Given the description of an element on the screen output the (x, y) to click on. 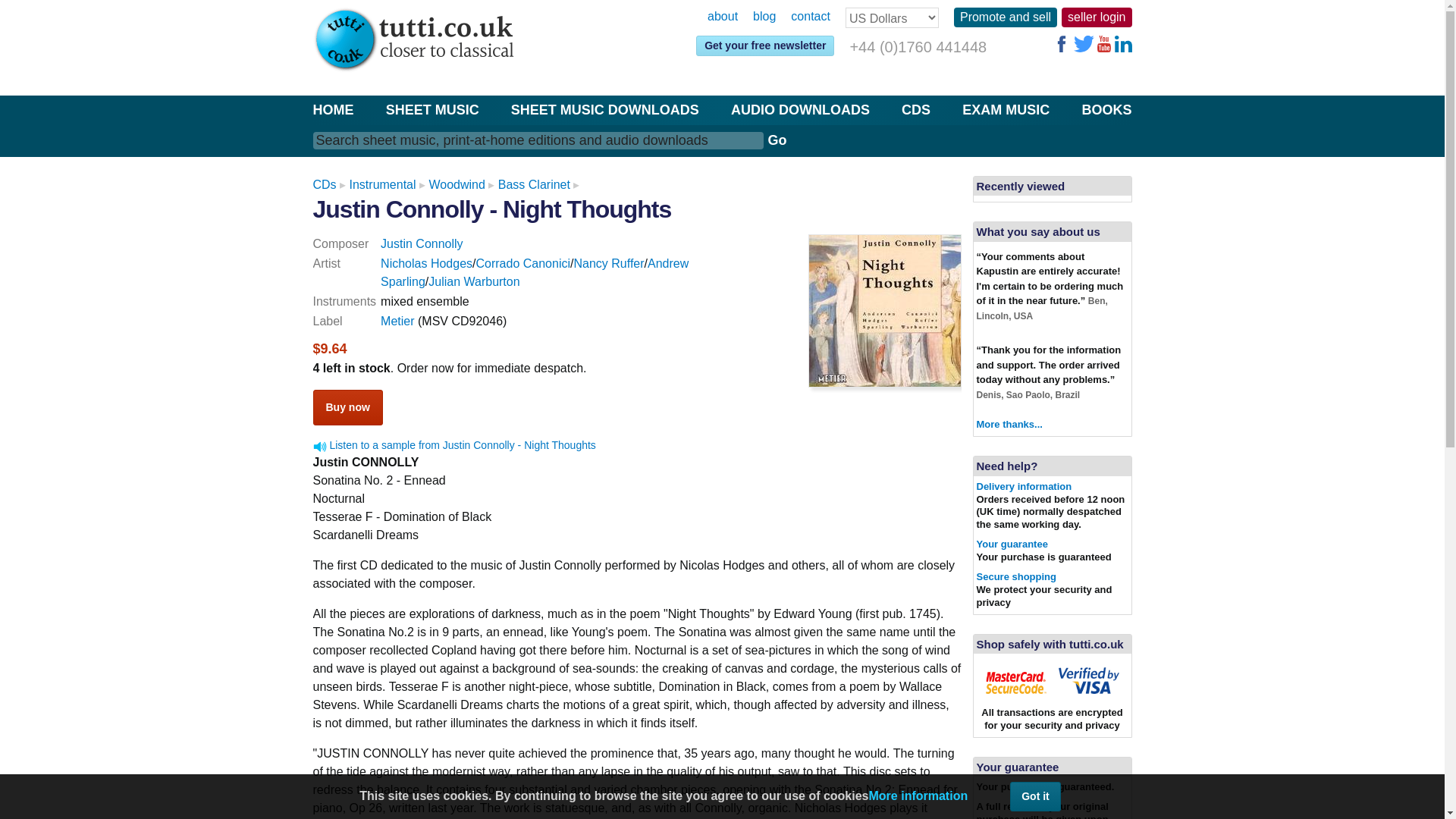
seller login (1096, 17)
Bass Clarinet (533, 184)
Corrado Canonici (523, 263)
Get your free newsletter (764, 46)
contact (809, 17)
Buy now (347, 407)
Justin Connolly (421, 243)
Go (776, 140)
BOOKS (1106, 109)
SHEET MUSIC (432, 109)
CDS (915, 109)
SHEET MUSIC DOWNLOADS (604, 109)
Julian Warburton (473, 281)
blog (764, 17)
Andrew Sparling (534, 272)
